Given the description of an element on the screen output the (x, y) to click on. 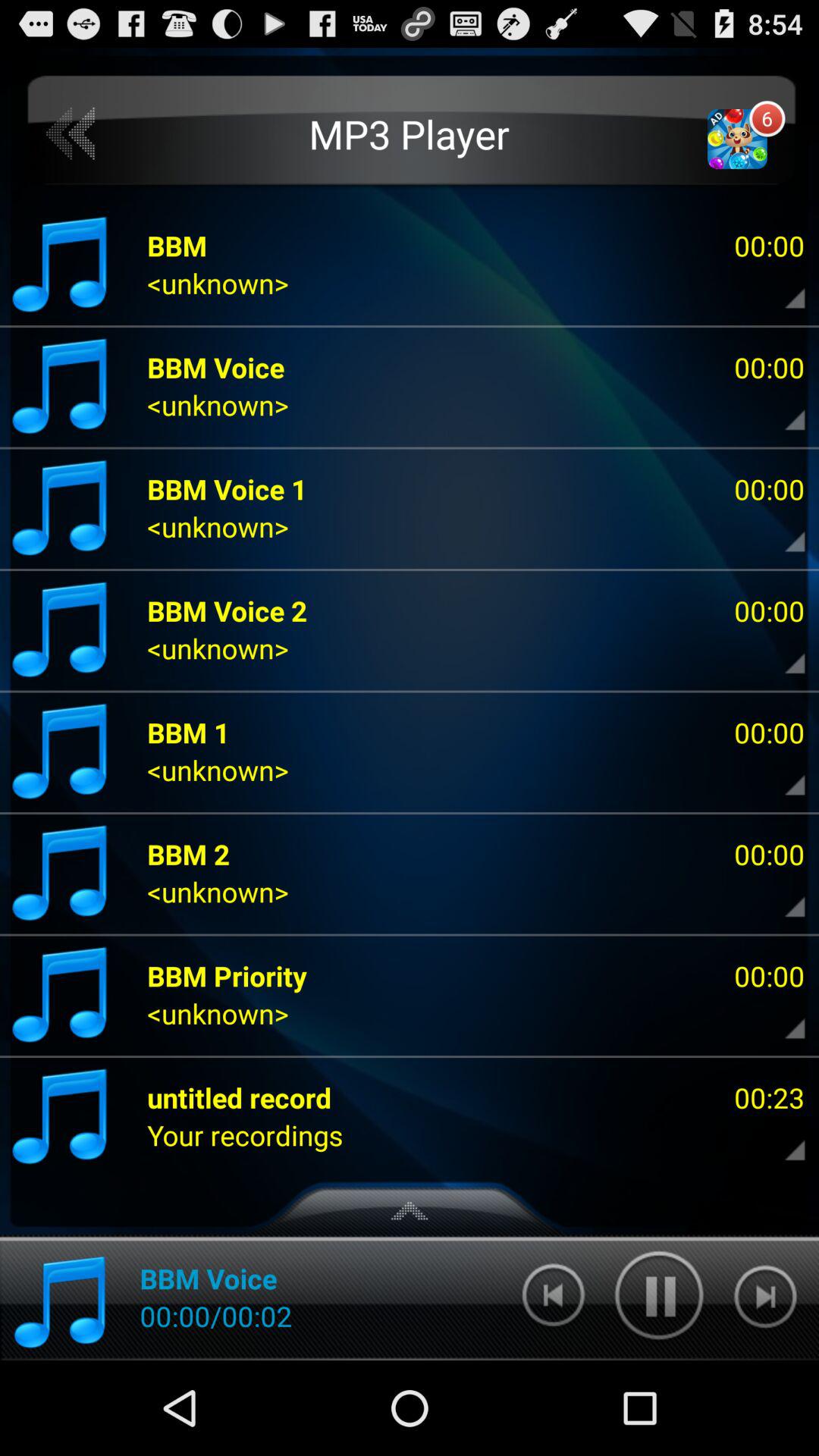
launch the app to the left of 00:23 (239, 1097)
